Given the description of an element on the screen output the (x, y) to click on. 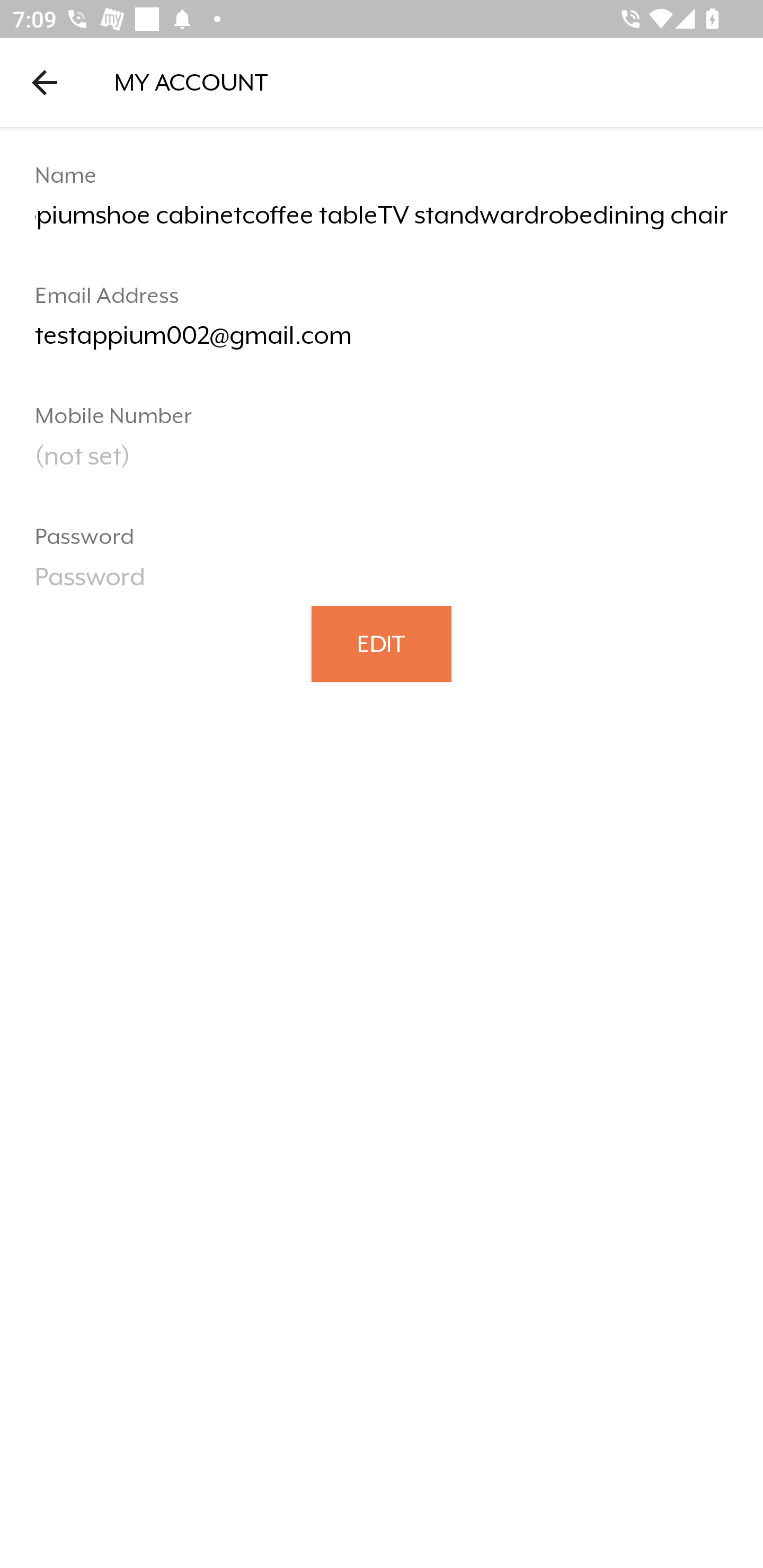
Navigate up (44, 82)
testappium002@gmail.com (381, 342)
Password (381, 583)
EDIT (381, 643)
